Given the description of an element on the screen output the (x, y) to click on. 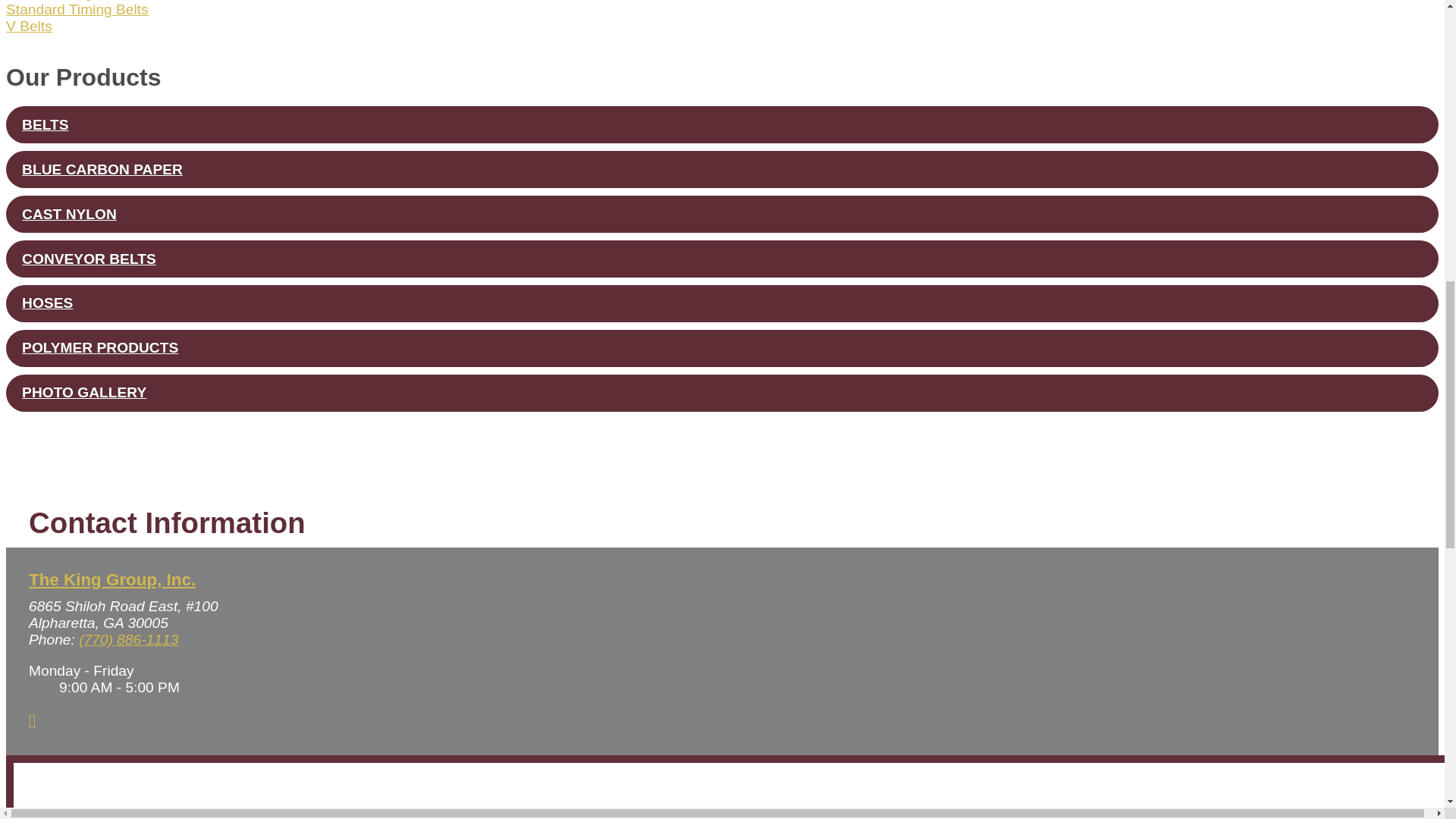
Standard Timing Belts (76, 9)
V Belts (28, 26)
